Given the description of an element on the screen output the (x, y) to click on. 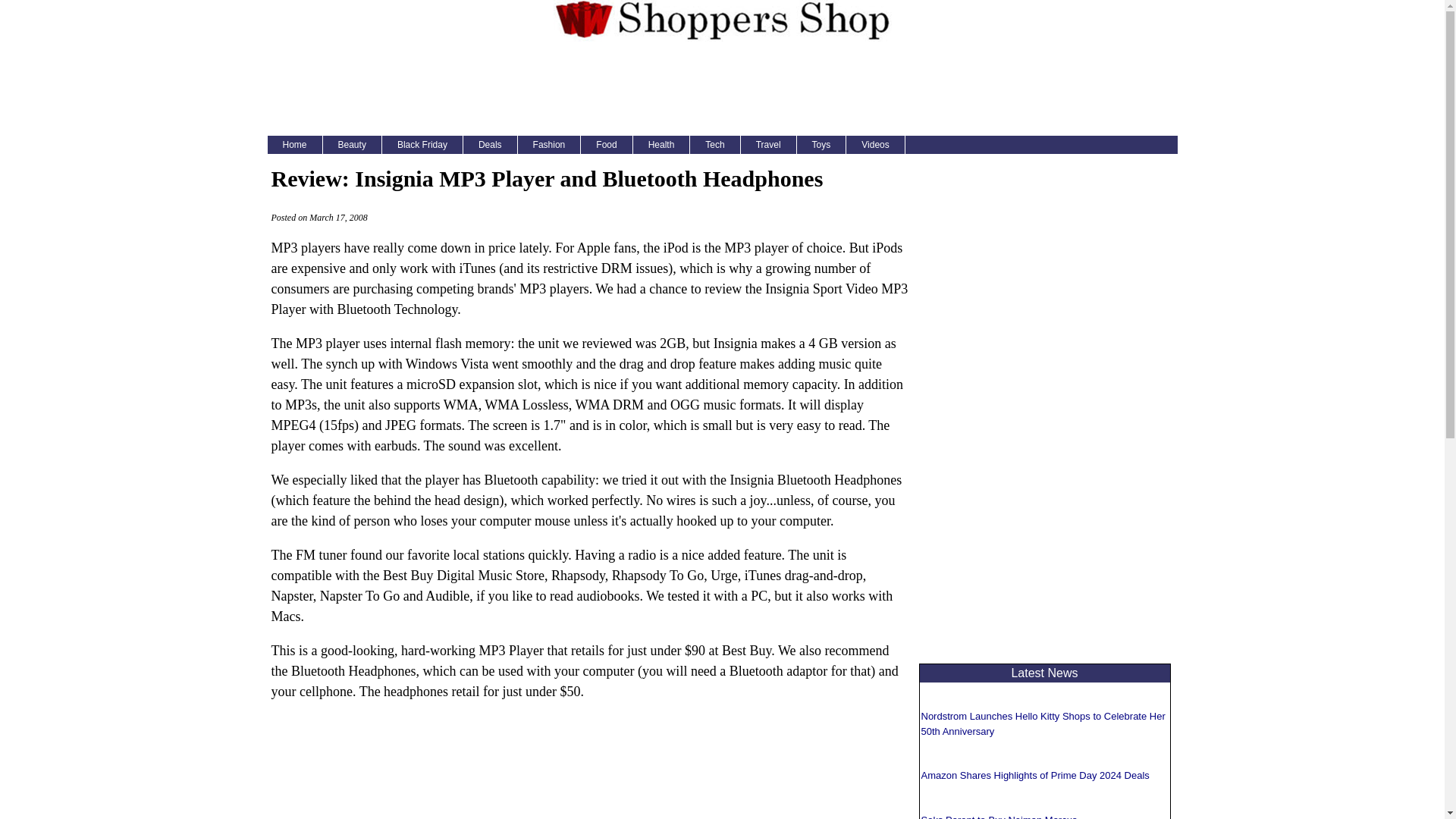
Black Friday (422, 144)
Food (605, 144)
Health (661, 144)
Deals (490, 144)
Home (293, 144)
Toys (821, 144)
Beauty (352, 144)
Advertisement (721, 86)
Advertisement (1044, 417)
Advertisement (588, 785)
Videos (874, 144)
Fashion (549, 144)
Saks Parent to Buy Neiman Marcus (998, 816)
Travel (768, 144)
